Given the description of an element on the screen output the (x, y) to click on. 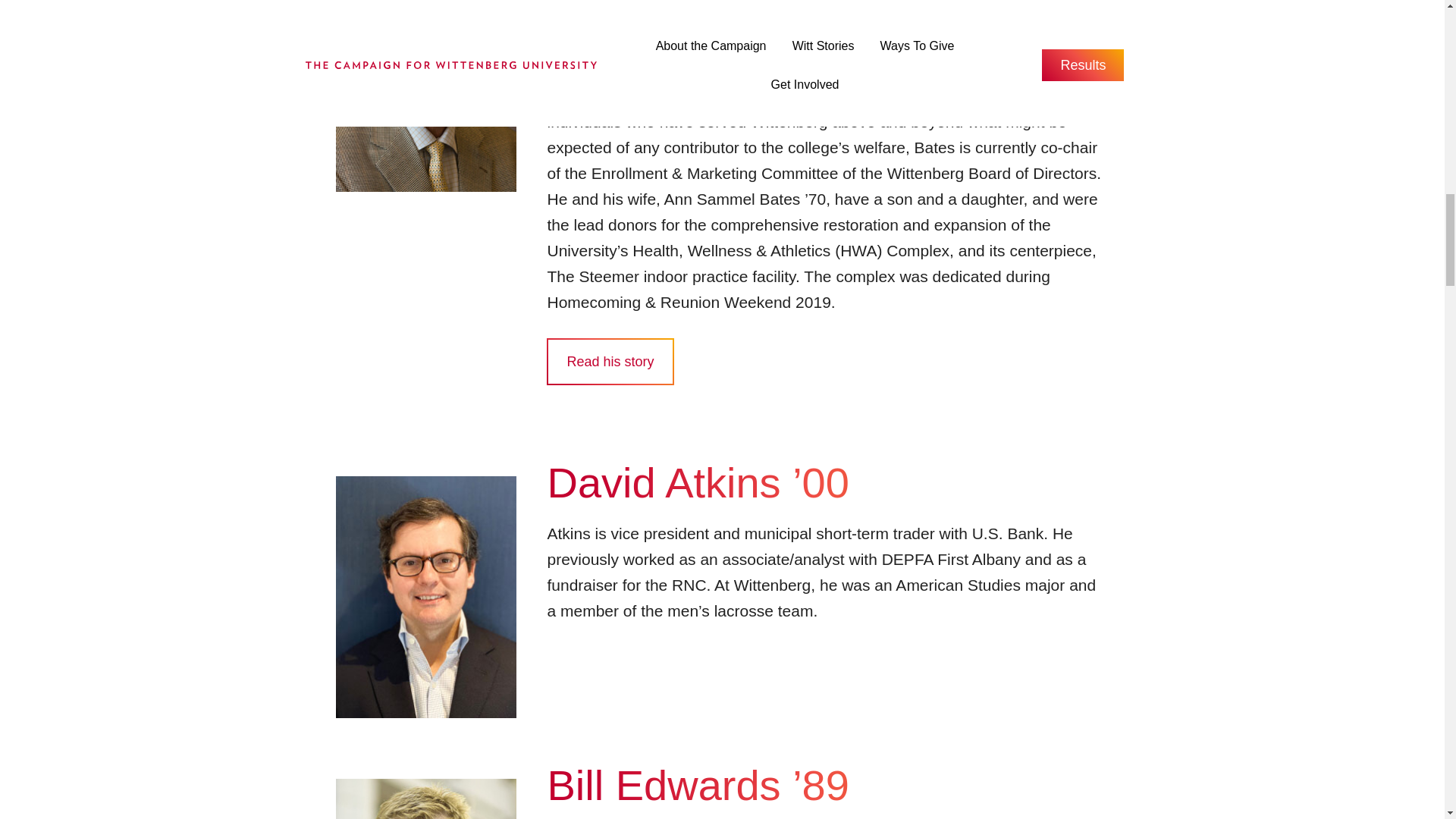
Bill Edwards (425, 798)
WesBates (425, 95)
Read his story (609, 361)
